Given the description of an element on the screen output the (x, y) to click on. 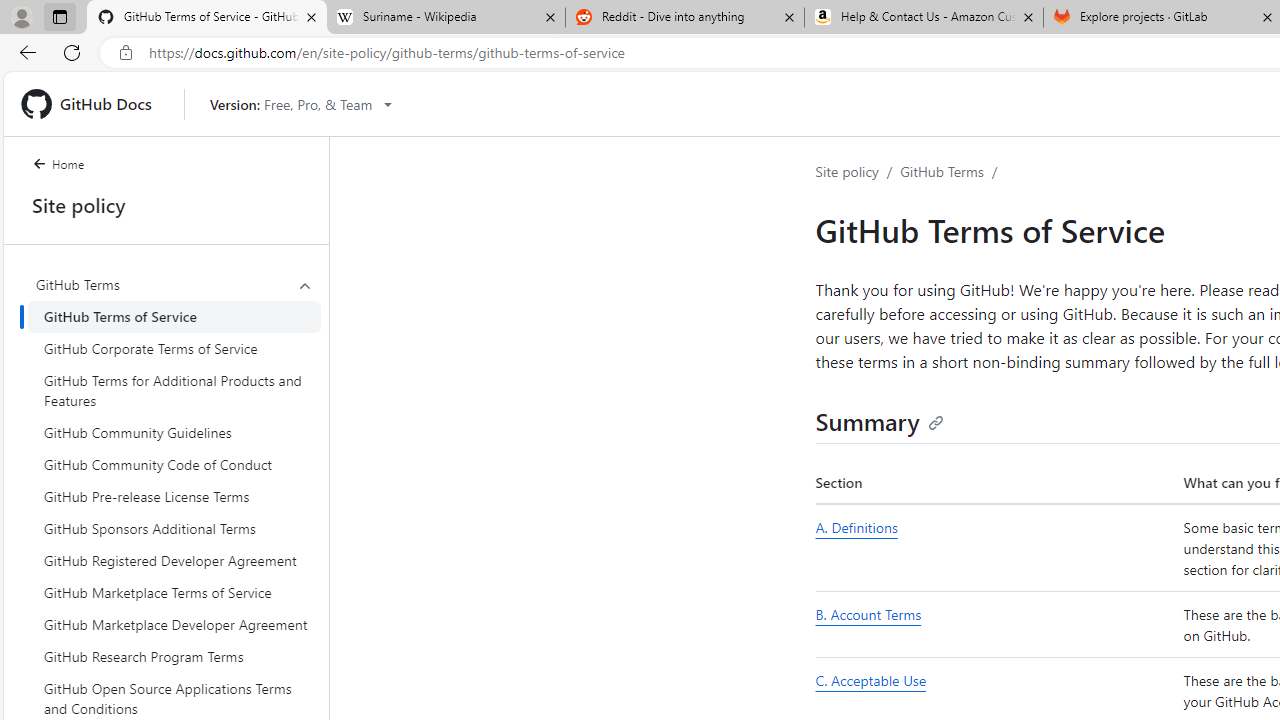
GitHub Marketplace Terms of Service (174, 592)
GitHub Terms (941, 171)
GitHub Community Guidelines (174, 432)
Site policy/ (858, 171)
GitHub Terms (174, 284)
GitHub Docs (93, 103)
C. Acceptable Use (870, 681)
GitHub Registered Developer Agreement (174, 560)
GitHub Research Program Terms (174, 656)
GitHub Terms/ (952, 171)
GitHub Registered Developer Agreement (174, 560)
